Given the description of an element on the screen output the (x, y) to click on. 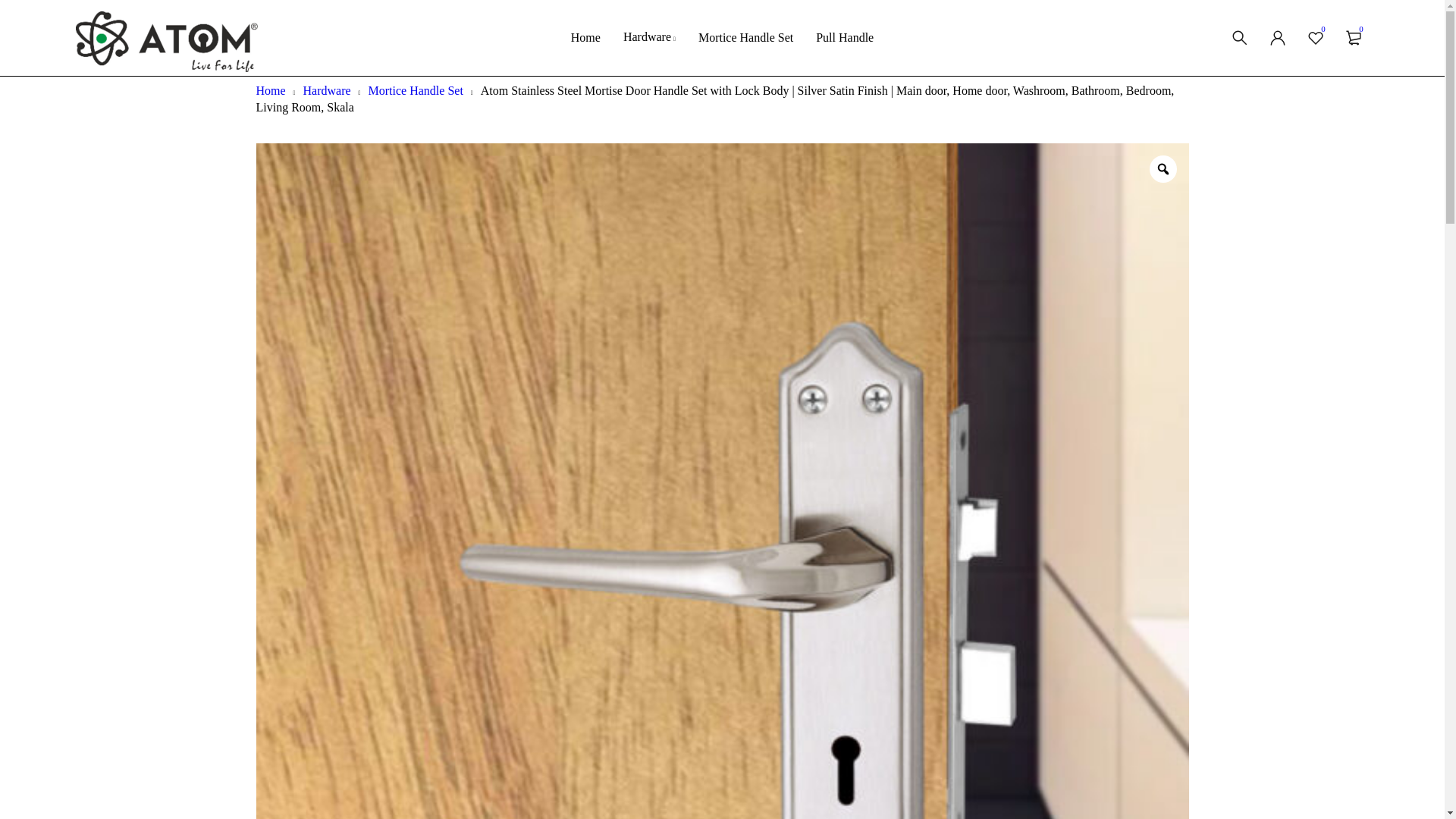
Wishlist (1315, 37)
Yobazar (166, 41)
View your shopping cart (1353, 37)
